Given the description of an element on the screen output the (x, y) to click on. 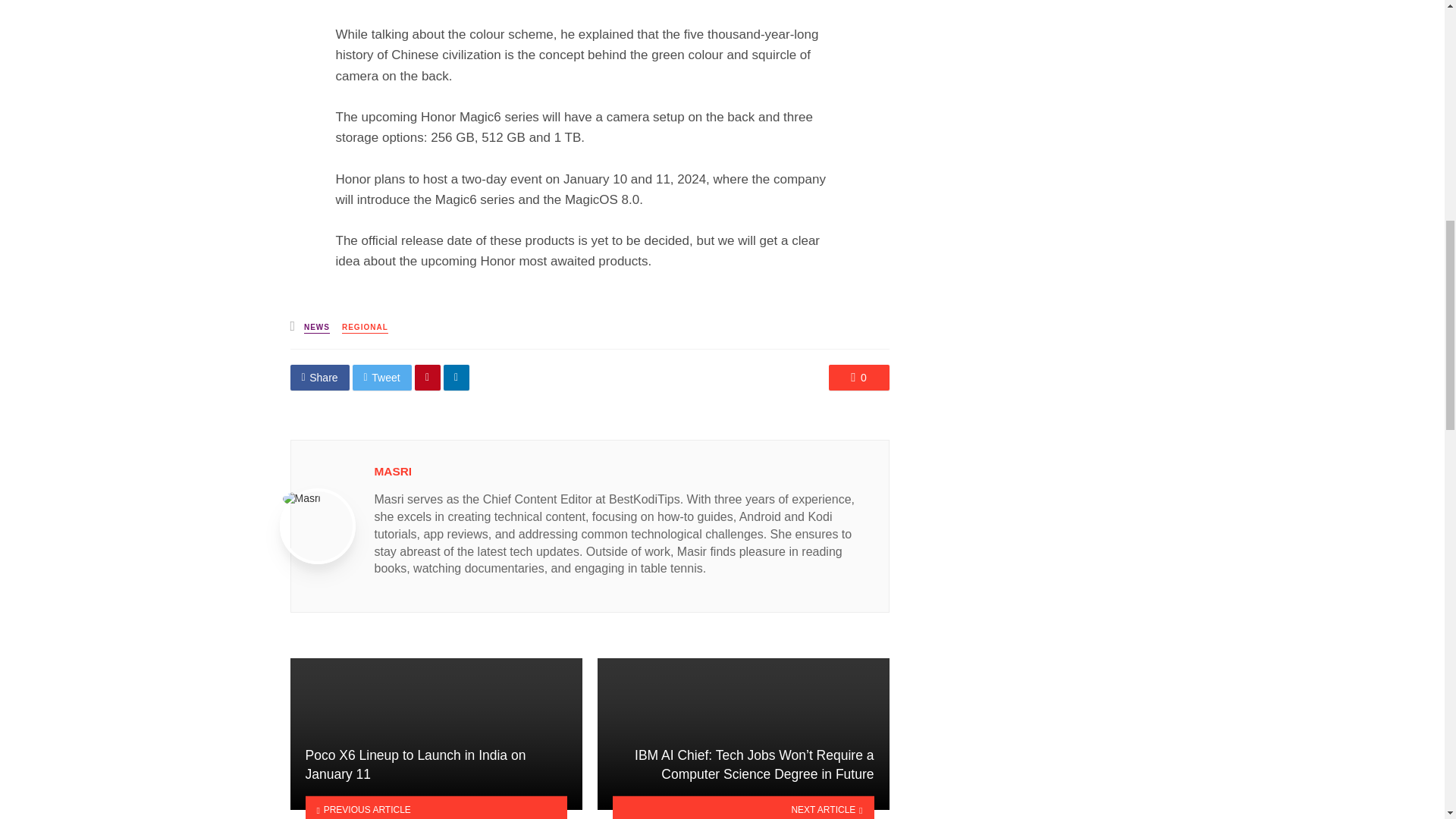
0 Comments (858, 377)
Share on Facebook (319, 377)
Posts by Masri (393, 471)
Share on Pinterest (427, 377)
Share on Twitter (382, 377)
Share on Linkedin (456, 377)
